Given the description of an element on the screen output the (x, y) to click on. 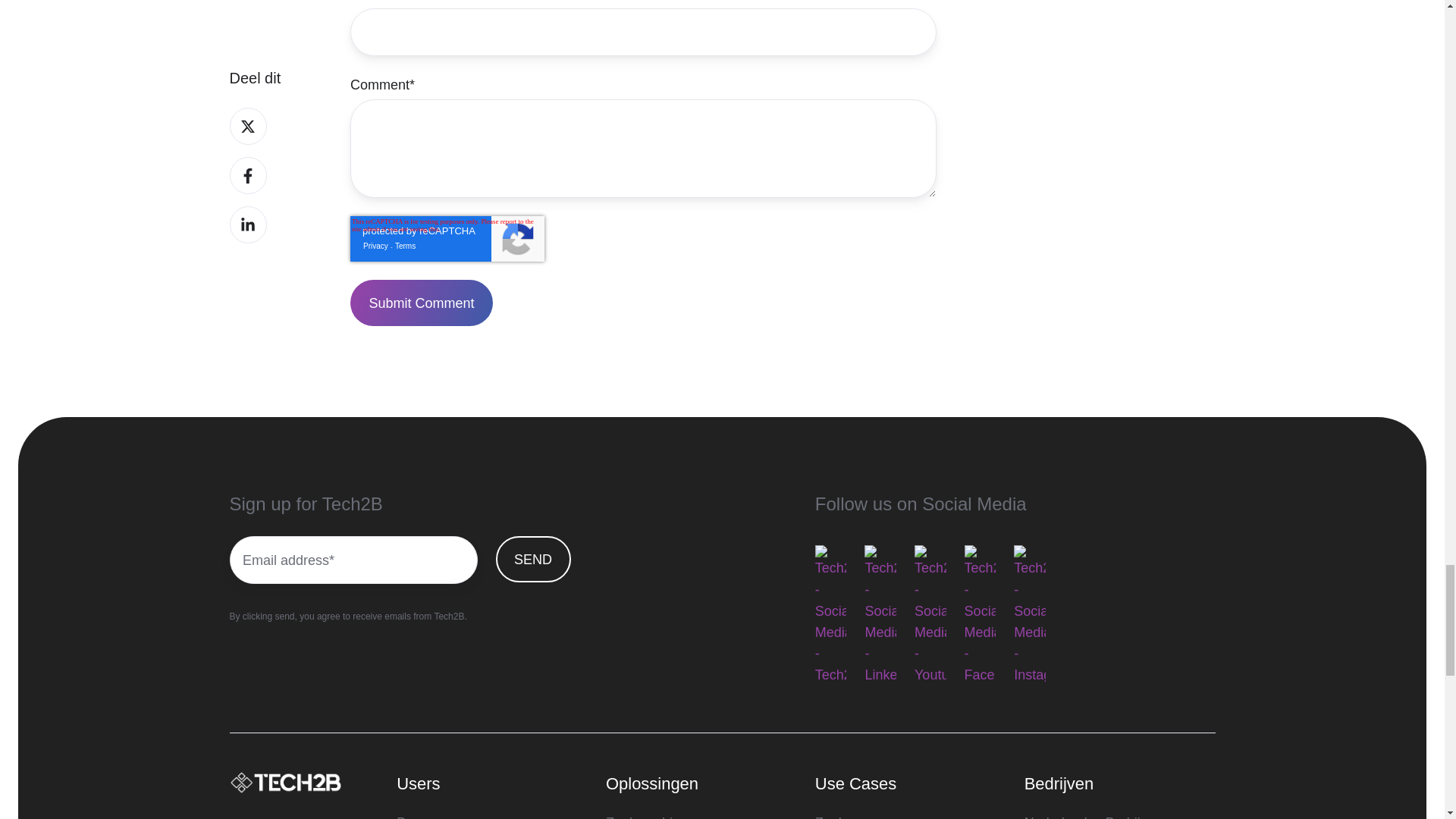
SEND (533, 559)
tech2b-logo-white-1080x240 (285, 782)
reCAPTCHA (447, 238)
Submit Comment (421, 302)
